Given the description of an element on the screen output the (x, y) to click on. 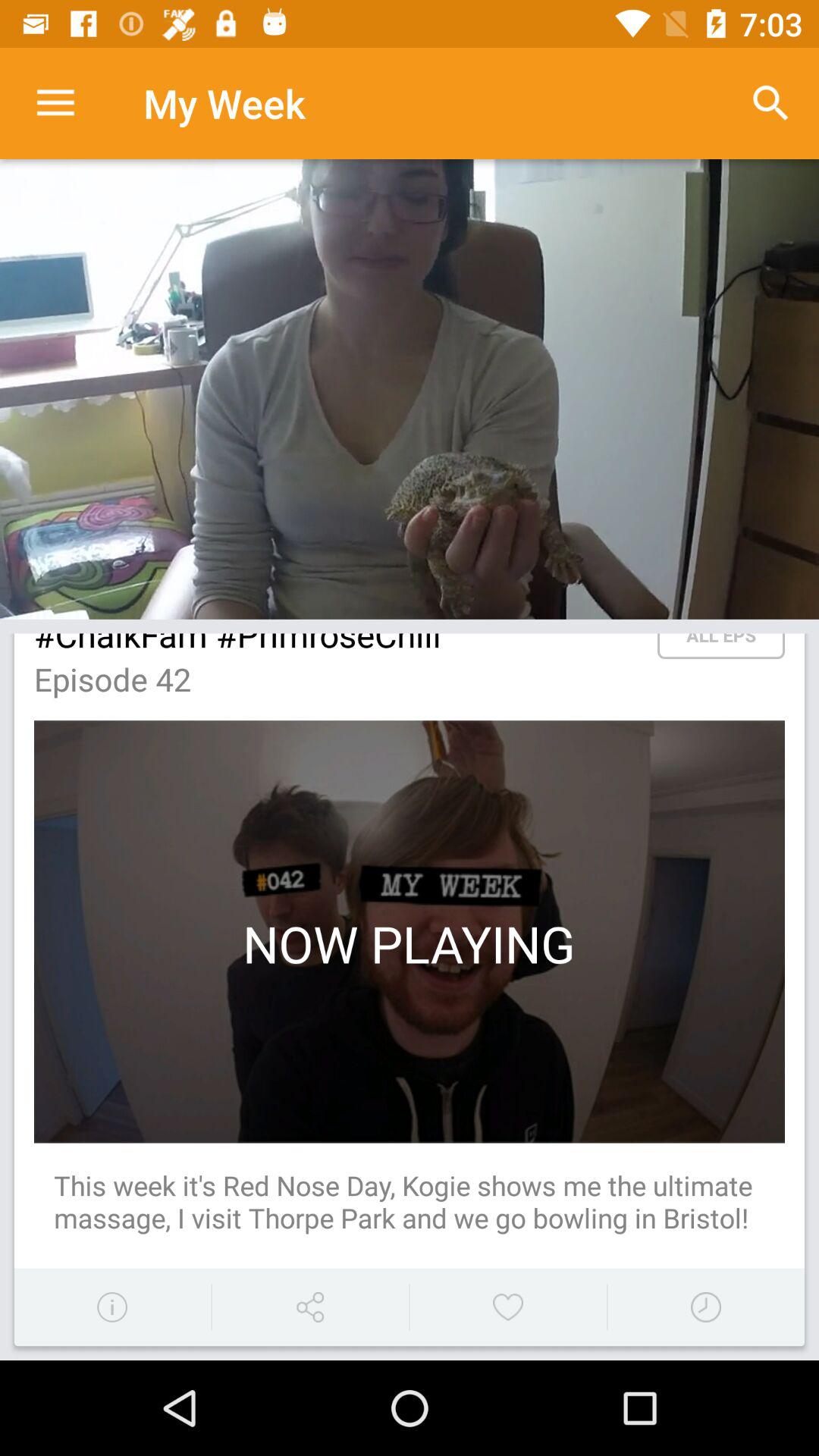
click on the button which is next to the like button (706, 1306)
click on the clock icon which is on the right side at the bottom (706, 1306)
click on search bar (771, 103)
select the second image of the page (409, 931)
select the image below the episode 42 (409, 931)
select the text which is right to the episode 42 (720, 646)
